Given the description of an element on the screen output the (x, y) to click on. 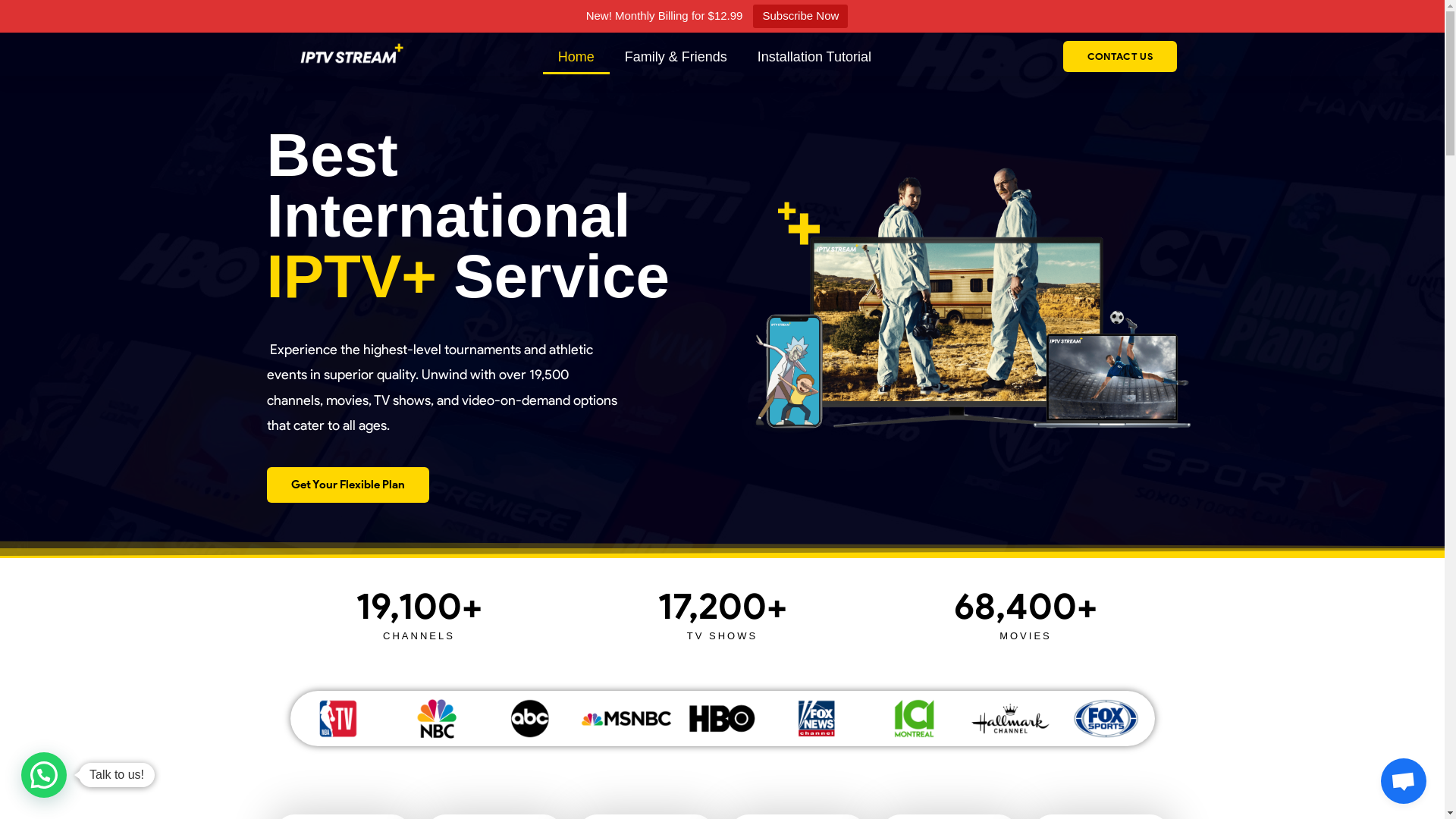
Get Your Flexible Plan Element type: text (347, 484)
Installation Tutorial Element type: text (814, 56)
Subscribe Now Element type: text (800, 16)
CONTACT US Element type: text (1119, 56)
Family & Friends Element type: text (675, 56)
Home Element type: text (575, 56)
